Given the description of an element on the screen output the (x, y) to click on. 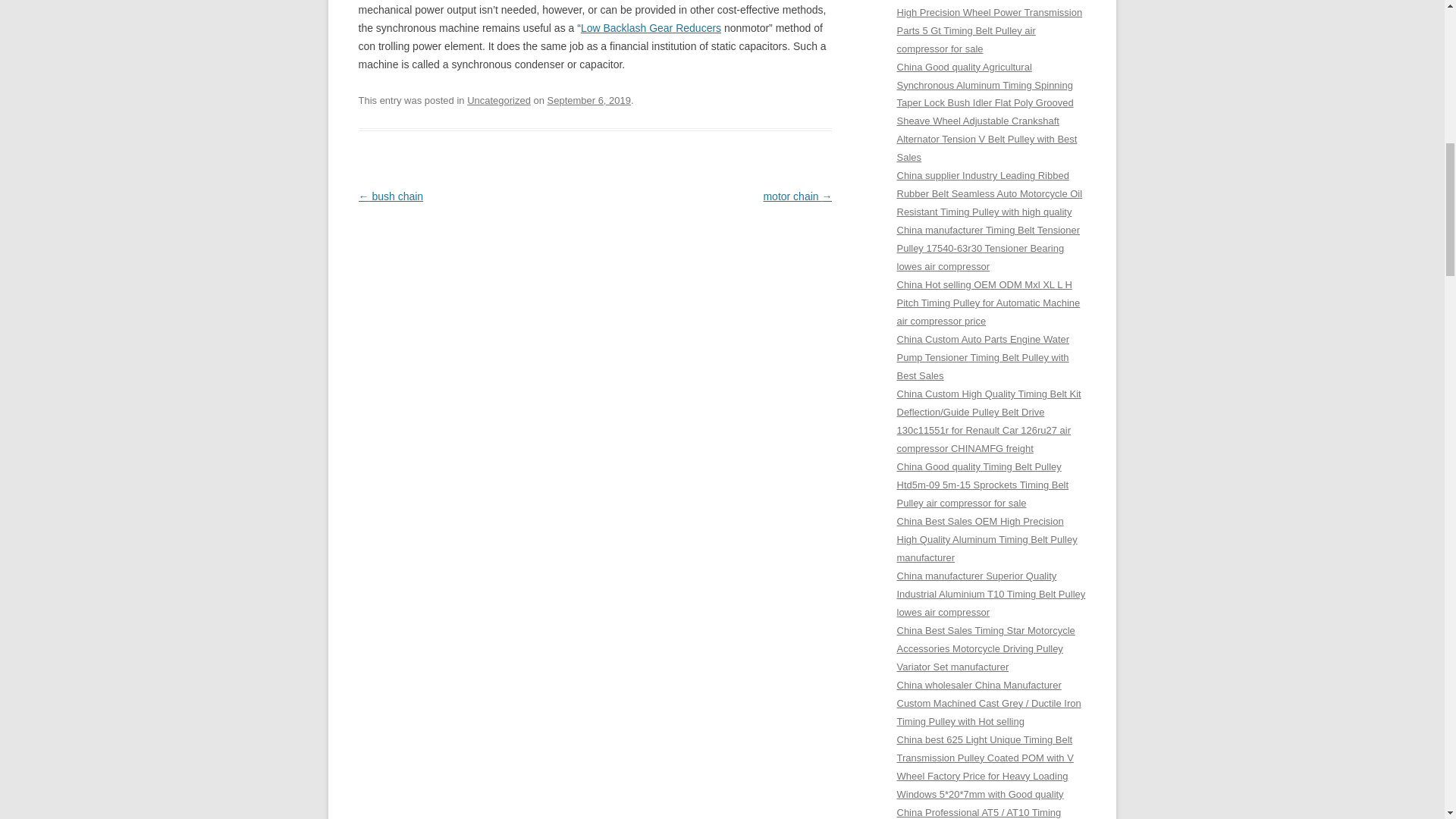
Uncategorized (499, 100)
8:21 am (588, 100)
September 6, 2019 (588, 100)
Low Backlash Gear Reducers (650, 28)
